Given the description of an element on the screen output the (x, y) to click on. 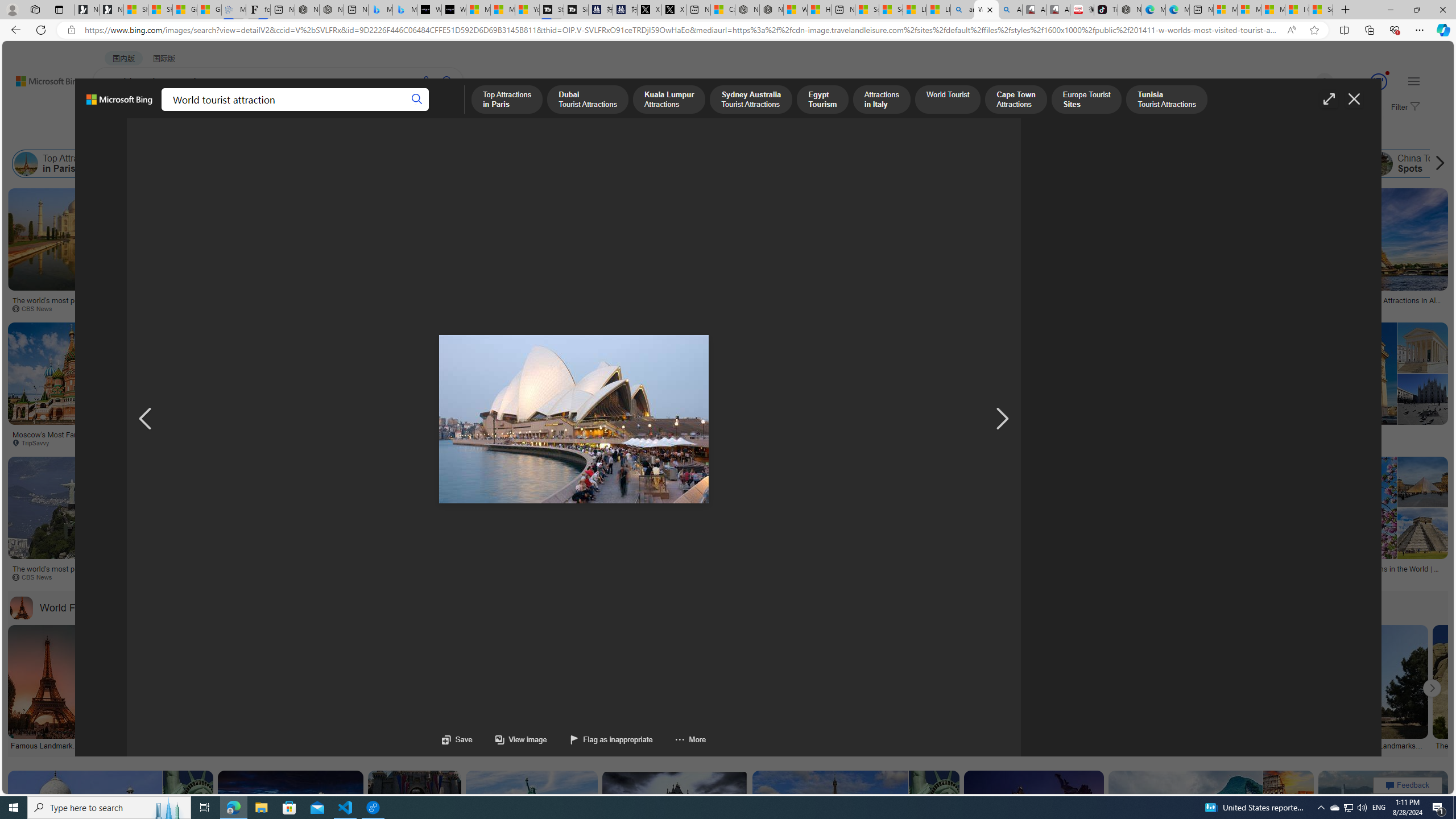
businessinsider.com (1019, 442)
mehndidesign.zohal.cc (449, 442)
